Given the description of an element on the screen output the (x, y) to click on. 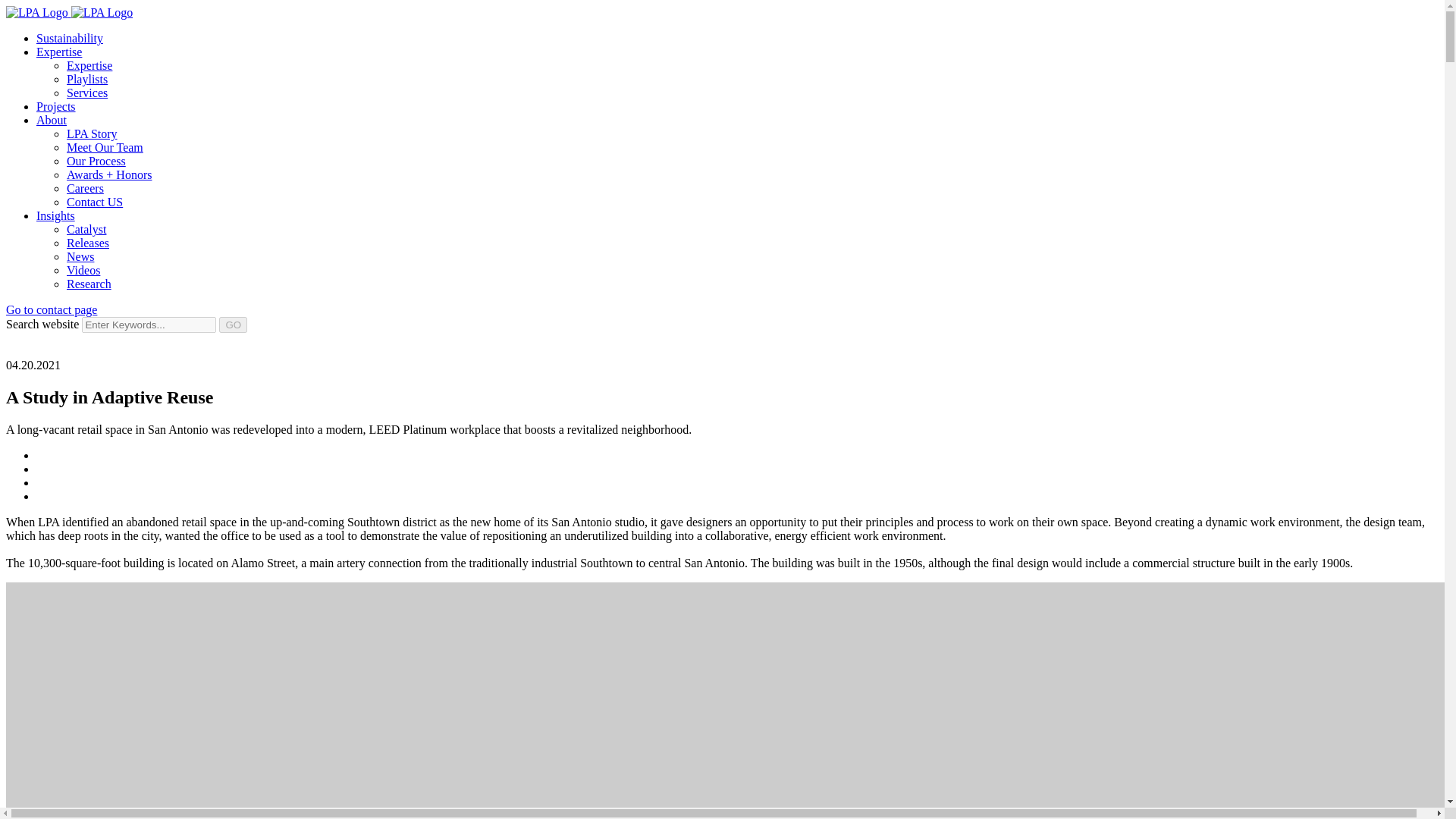
Contact US (94, 201)
Catalyst (86, 228)
Projects (55, 106)
Research (89, 283)
Our Process (95, 160)
Insights (55, 215)
LPA Story (91, 133)
Playlists (86, 78)
Meet Our Team (104, 146)
Expertise (58, 51)
GO (233, 324)
Sustainability (69, 38)
Careers (84, 187)
Services (86, 92)
